Given the description of an element on the screen output the (x, y) to click on. 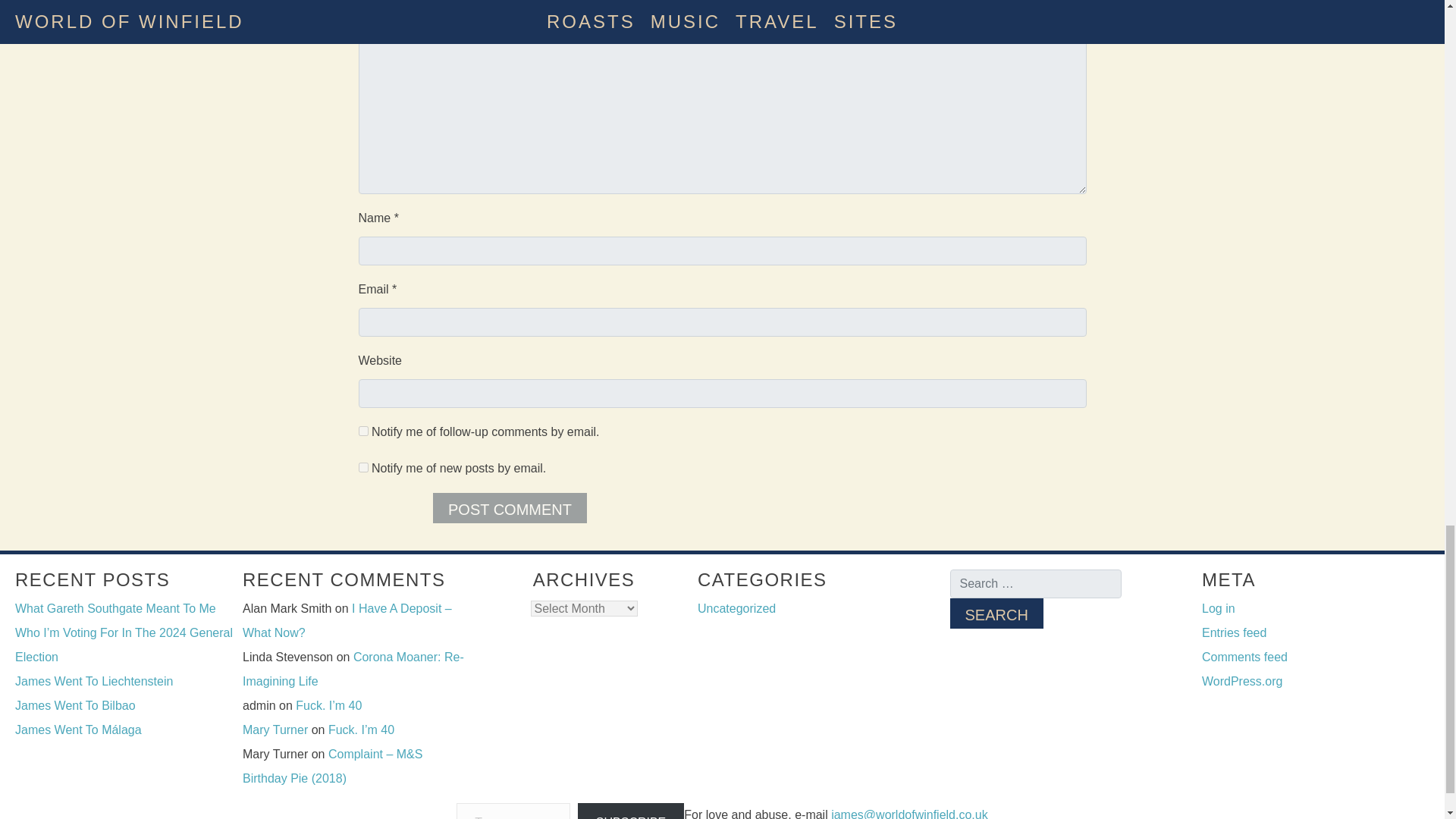
Search (995, 613)
James Went To Bilbao (74, 705)
Mary Turner (275, 729)
subscribe (363, 467)
subscribe (363, 430)
James Went To Liechtenstein (93, 680)
WordPress.org (1242, 680)
Uncategorized (736, 608)
Corona Moaner: Re-Imagining Life (353, 668)
Post Comment (509, 508)
